Given the description of an element on the screen output the (x, y) to click on. 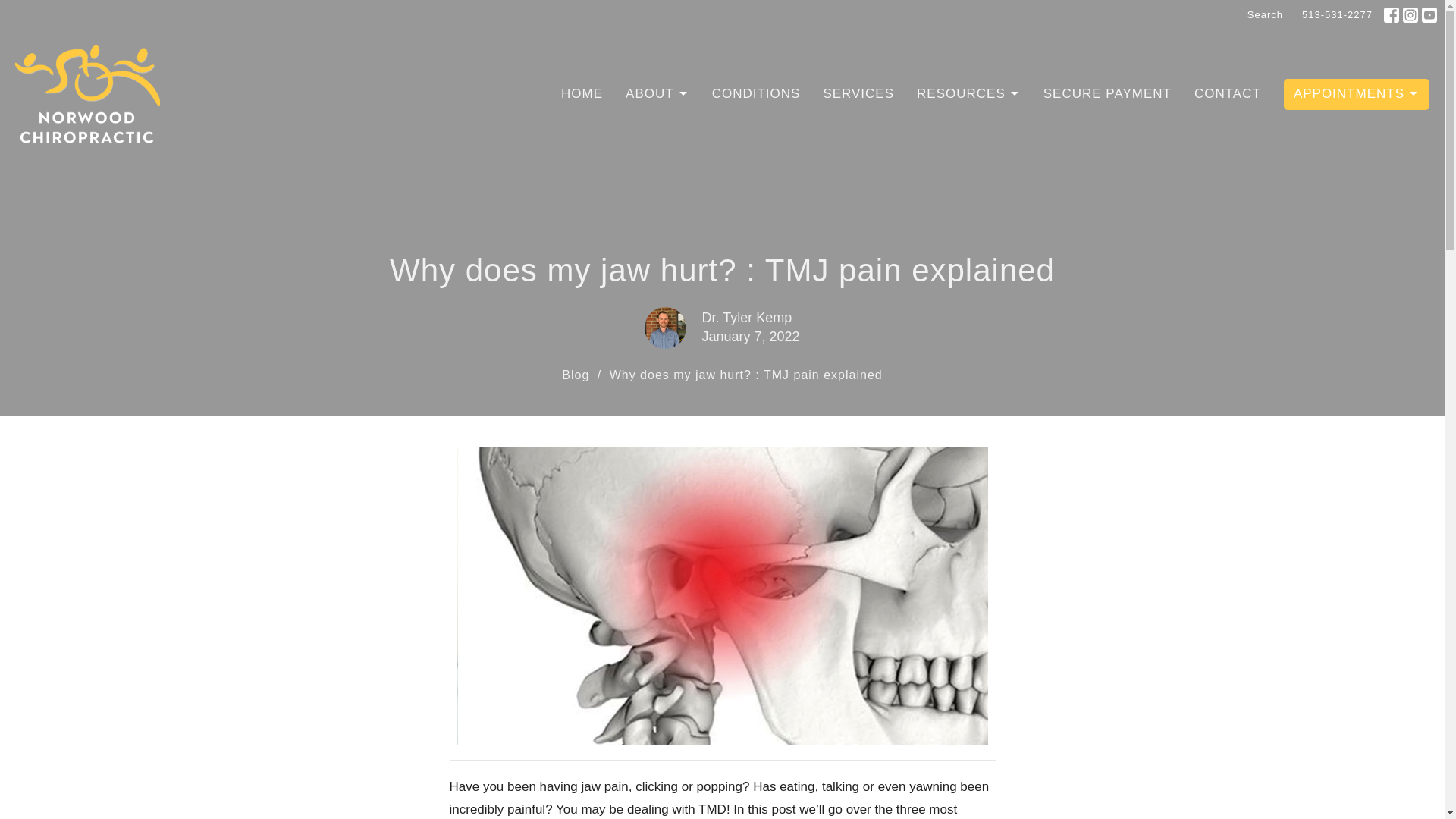
HOME (581, 93)
APPOINTMENTS (1356, 93)
513-531-2277 (1337, 15)
Search (1265, 15)
RESOURCES (968, 93)
CONDITIONS (755, 93)
ABOUT (657, 93)
SERVICES (857, 93)
SECURE PAYMENT (1107, 93)
CONTACT (1226, 93)
